Given the description of an element on the screen output the (x, y) to click on. 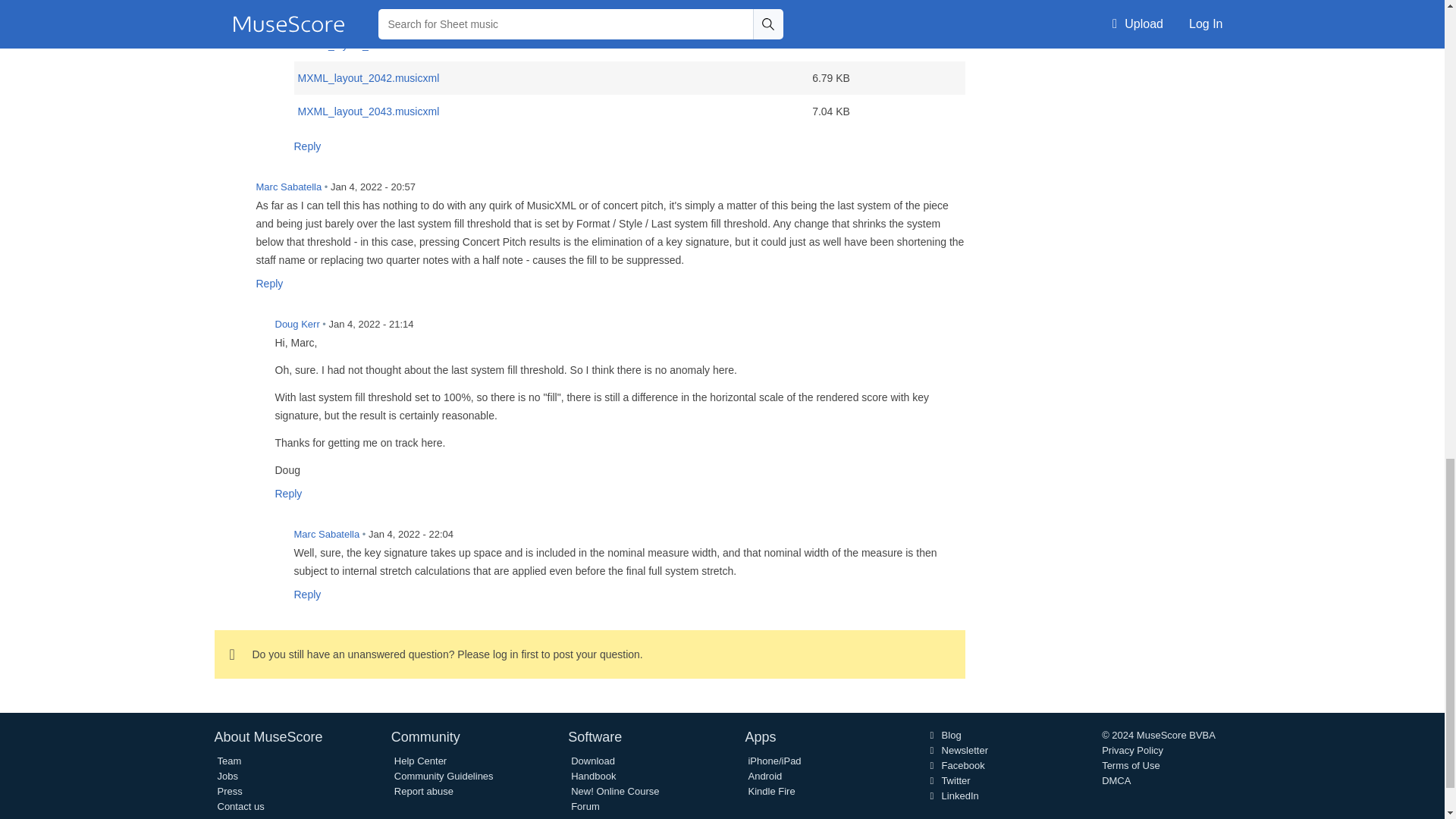
Marc Sabatella (266, 543)
Doug Kerr (247, 333)
Marc Sabatella (229, 195)
